Given the description of an element on the screen output the (x, y) to click on. 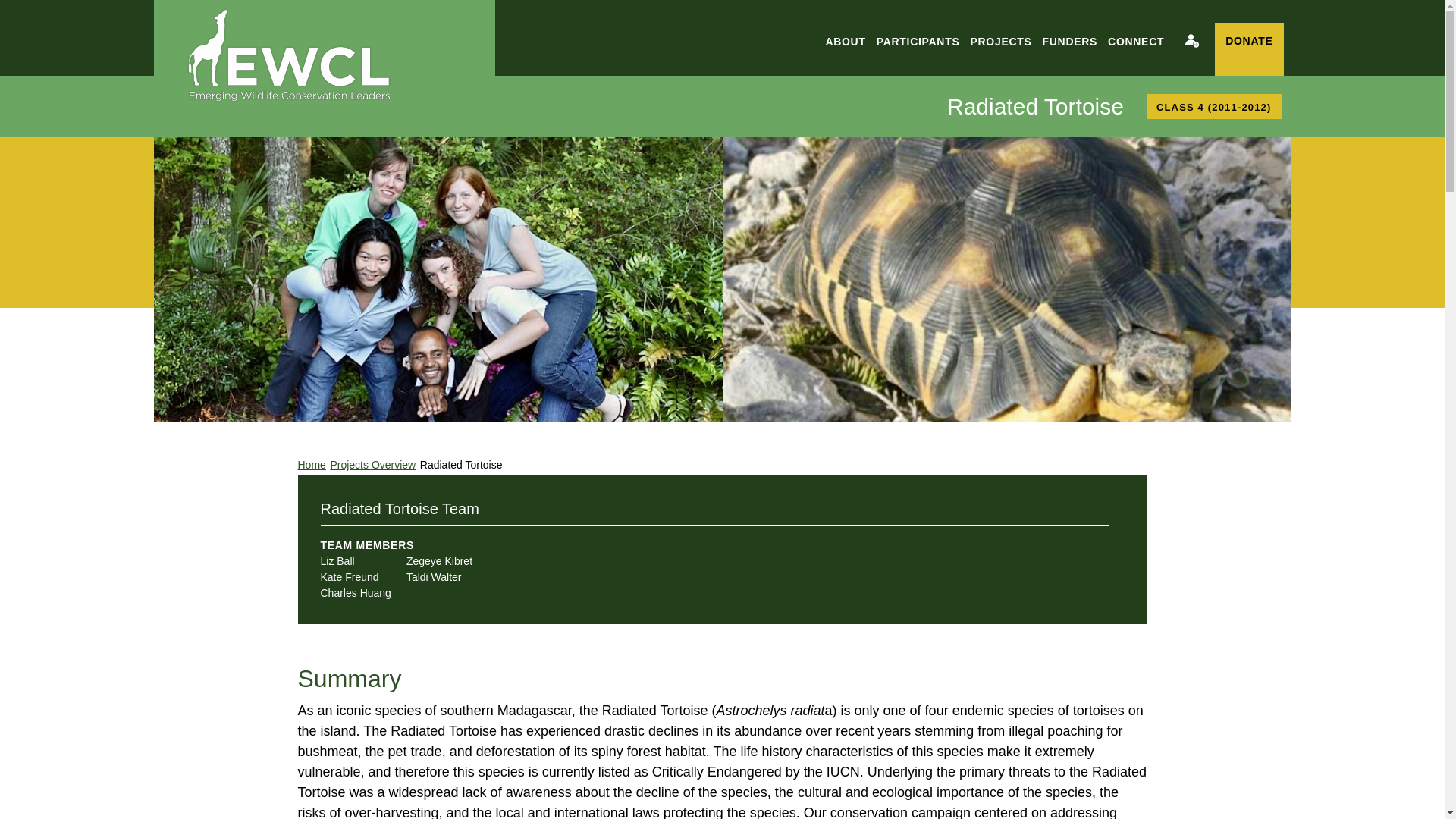
ABOUT (844, 41)
PARTICIPANTS (917, 41)
CONNECT (1135, 41)
Emerging Wildlife Conservation Leaders (288, 55)
FUNDERS (1069, 41)
Log in (1192, 40)
PROJECTS (999, 41)
DONATE (1248, 49)
